Given the description of an element on the screen output the (x, y) to click on. 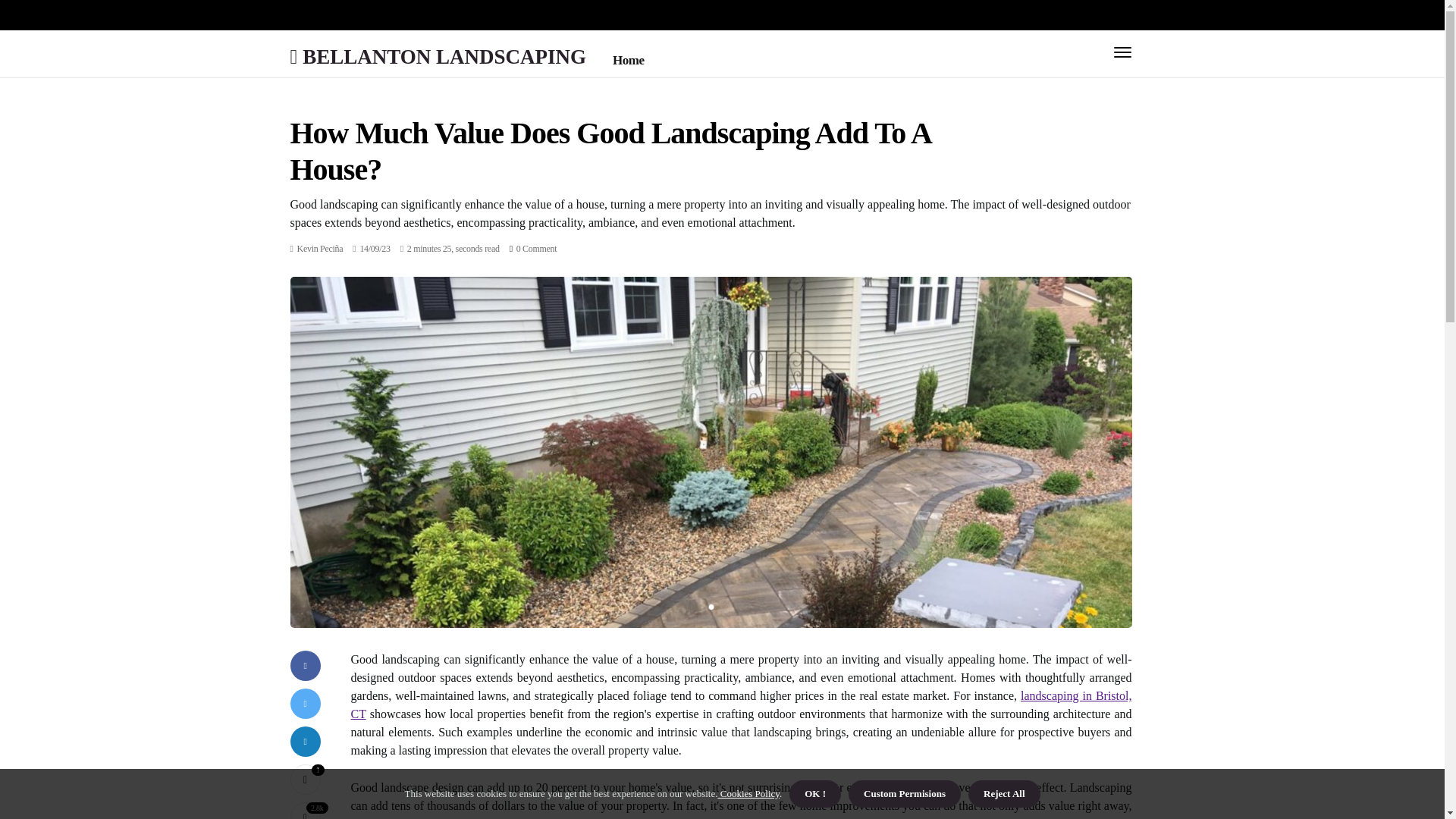
0 Comment (536, 248)
Like (304, 779)
landscaping in Bristol, CT (740, 704)
BELLANTON LANDSCAPING (437, 56)
1 (304, 779)
